Given the description of an element on the screen output the (x, y) to click on. 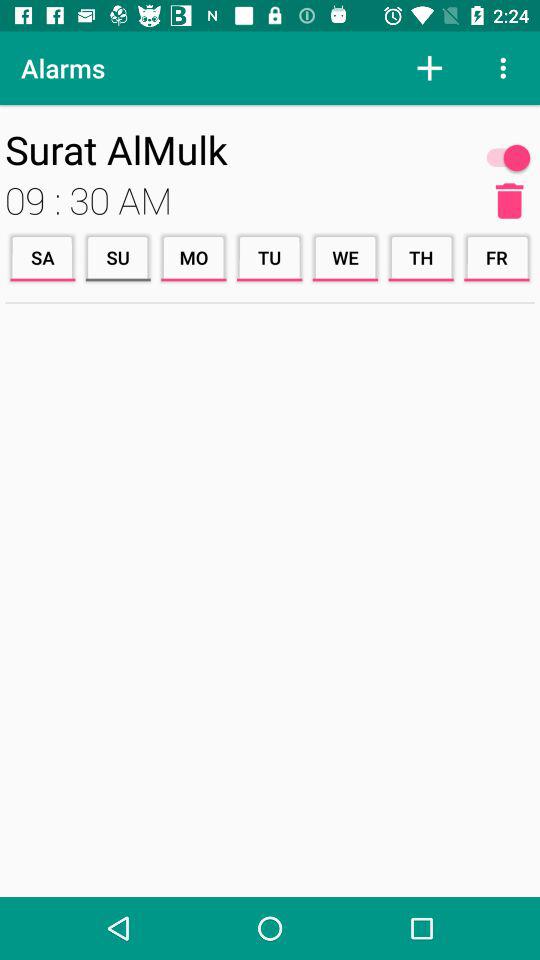
tap the icon next to th icon (345, 257)
